Given the description of an element on the screen output the (x, y) to click on. 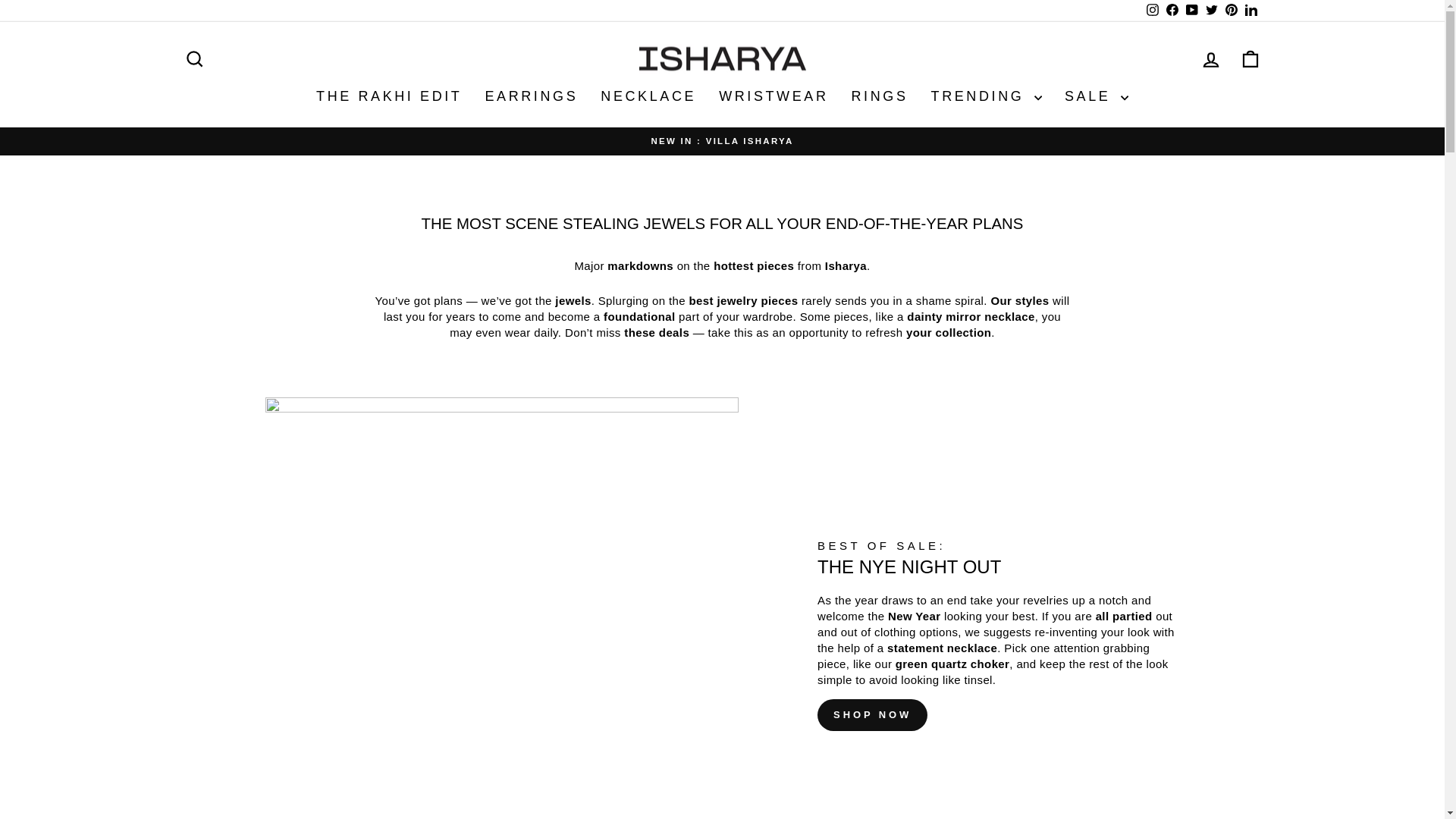
ICON-SEARCH (194, 59)
instagram (194, 58)
twitter (1151, 10)
Facebook (1152, 9)
Pinterest (1211, 9)
YouTube (1170, 10)
ACCOUNT (1211, 10)
ICON-BAG-MINIMAL (1230, 10)
LinkedIn (1210, 59)
